Given the description of an element on the screen output the (x, y) to click on. 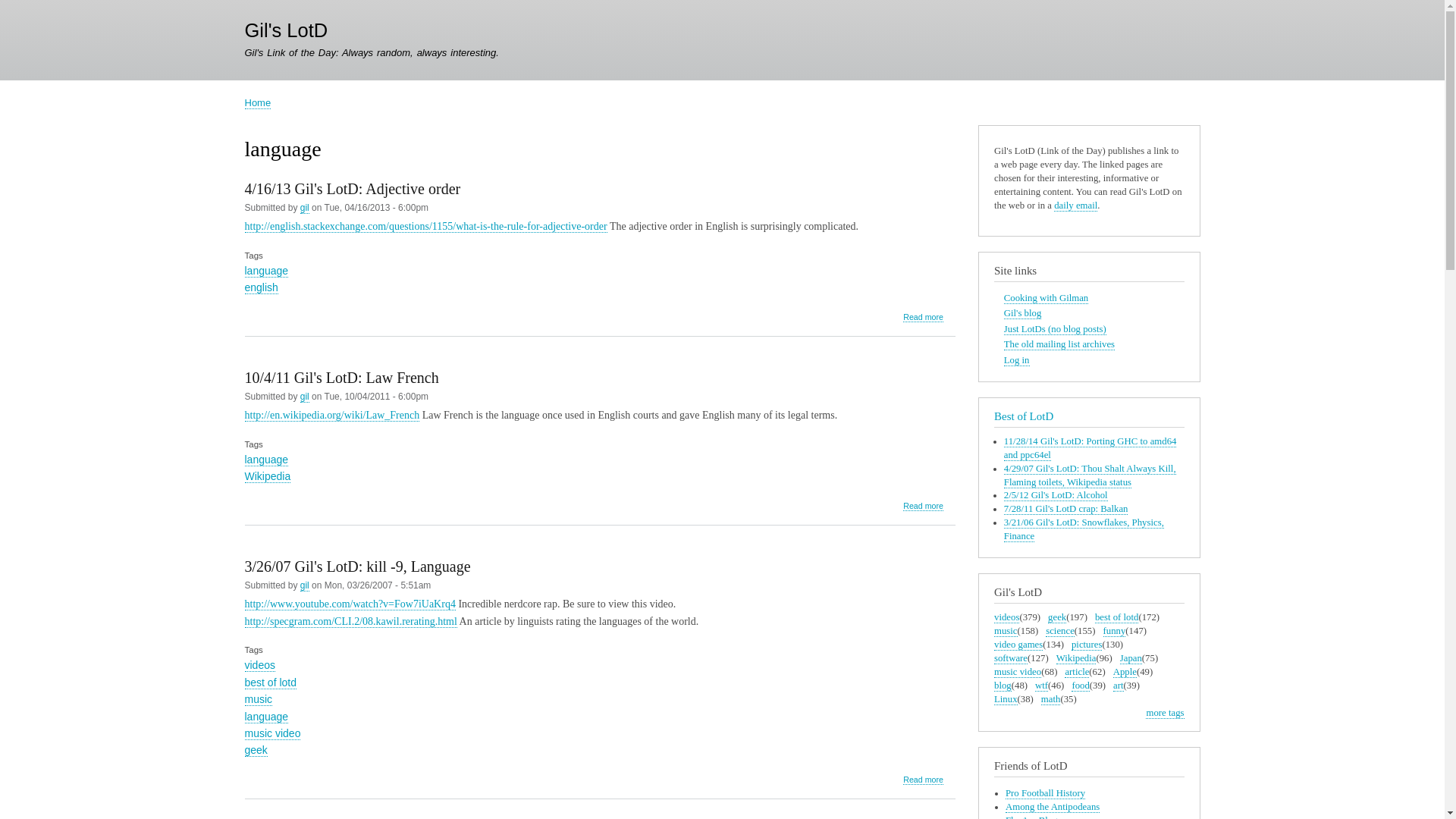
language (266, 459)
language (266, 716)
geek (255, 749)
Tuesday, October 4, 2011 - 6:00pm (376, 396)
best of lotd (270, 682)
Monday, March 26, 2007 - 5:51am (377, 584)
Gil's LotD (285, 29)
music (258, 698)
music video (271, 733)
Home (257, 102)
Skip to main content (722, 1)
language (266, 270)
english (261, 287)
Wikipedia (266, 476)
videos (259, 665)
